Given the description of an element on the screen output the (x, y) to click on. 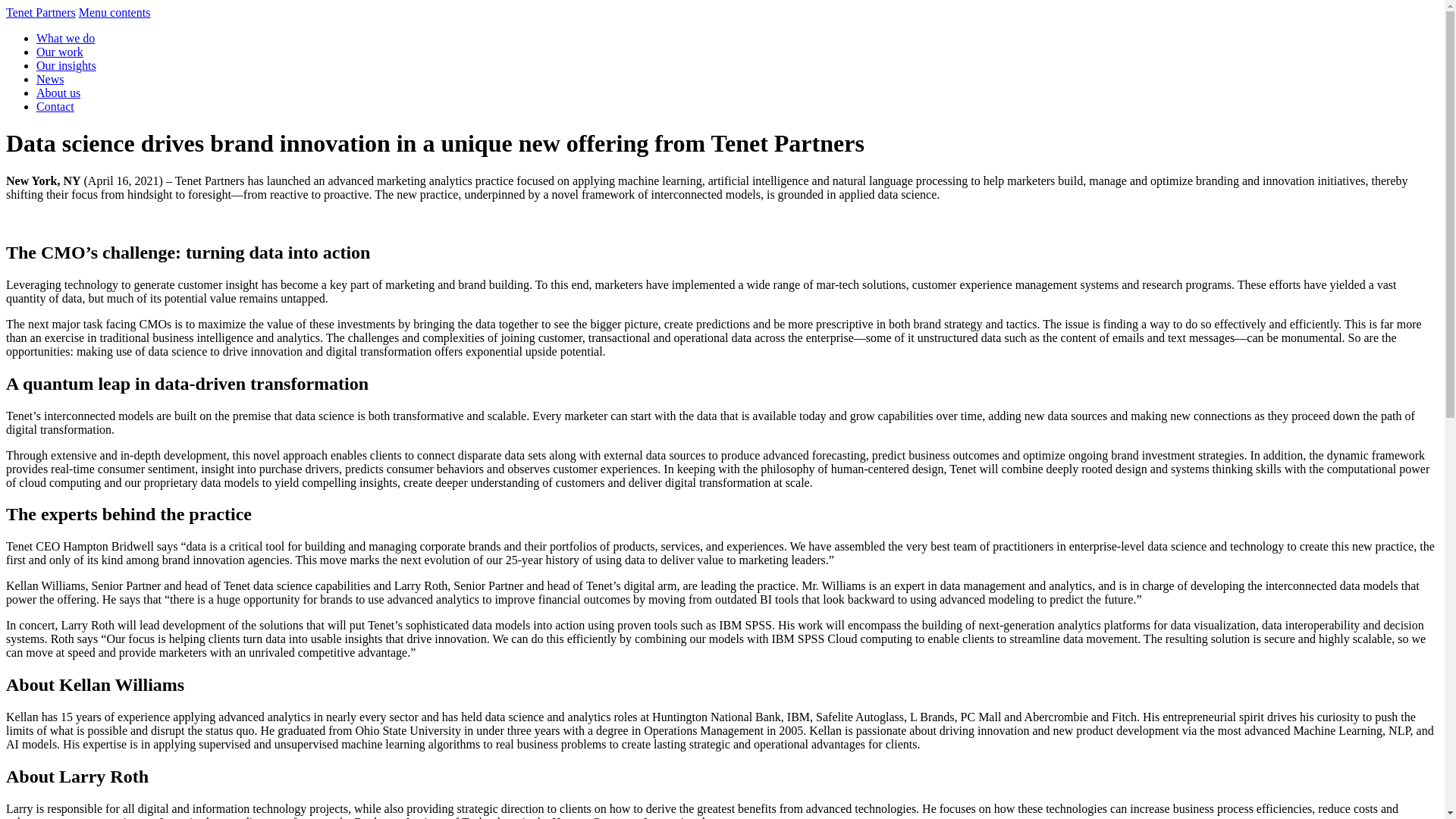
What we do (65, 38)
Our insights (66, 65)
Contact (55, 106)
Tenet Partners (40, 11)
News (50, 78)
Menu contents (114, 11)
Our work (59, 51)
About us (58, 92)
